Given the description of an element on the screen output the (x, y) to click on. 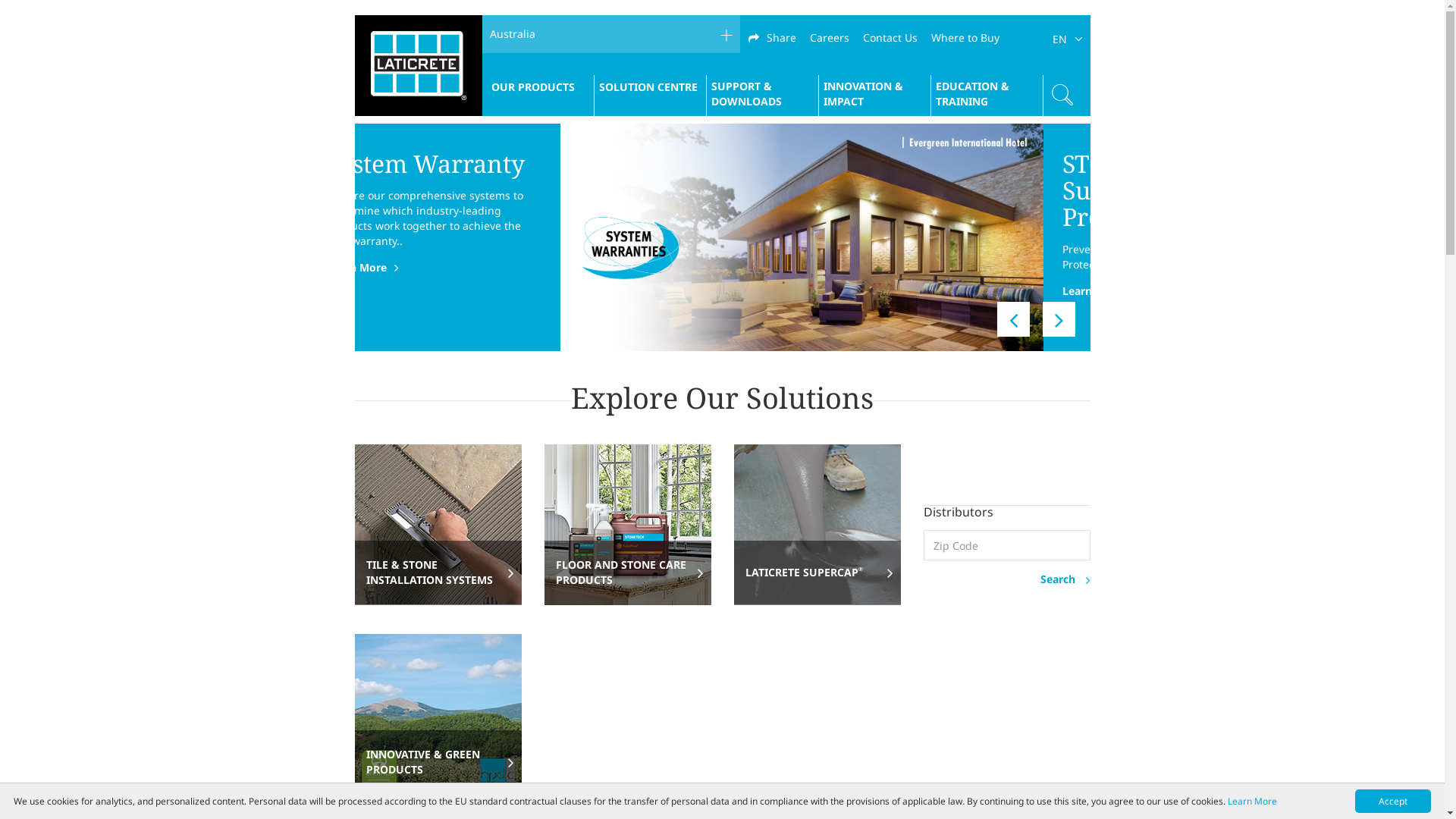
EN Element type: text (1064, 37)
TILE & STONE INSTALLATION SYSTEMS Element type: text (437, 572)
Share Element type: text (771, 37)
EDUCATION & TRAINING Element type: text (986, 93)
Learn More Element type: text (480, 267)
INNOVATIVE & GREEN PRODUCTS Element type: text (437, 761)
Australia Element type: text (611, 34)
Where to Buy Element type: text (965, 37)
Learn More Element type: text (1252, 800)
FLOOR AND STONE CARE PRODUCTS Element type: text (627, 572)
Contact Us Element type: text (889, 37)
INNOVATION & IMPACT Element type: text (874, 93)
Careers Element type: text (829, 37)
SOLUTION CENTRE Element type: text (648, 86)
OUR PRODUCTS Element type: text (532, 86)
Search Element type: text (1006, 578)
SUPPORT & DOWNLOADS Element type: text (762, 93)
